Given the description of an element on the screen output the (x, y) to click on. 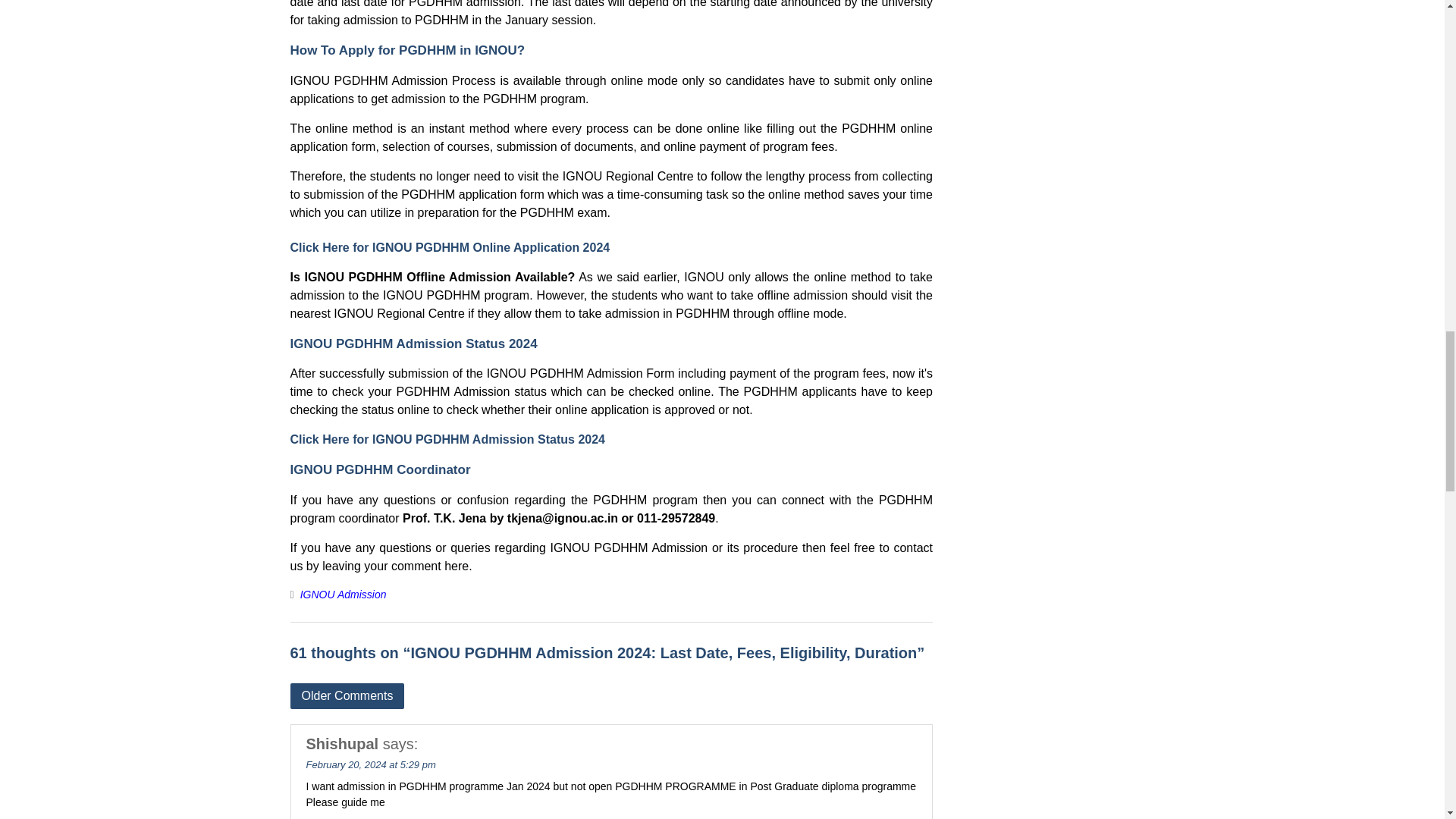
Click Here for IGNOU PGDHHM Online Application 2024 (449, 246)
Click Here for IGNOU PGDHHM Admission Status 2024 (447, 439)
Older Comments (346, 695)
IGNOU Admission (343, 594)
February 20, 2024 at 5:29 pm (370, 763)
